Given the description of an element on the screen output the (x, y) to click on. 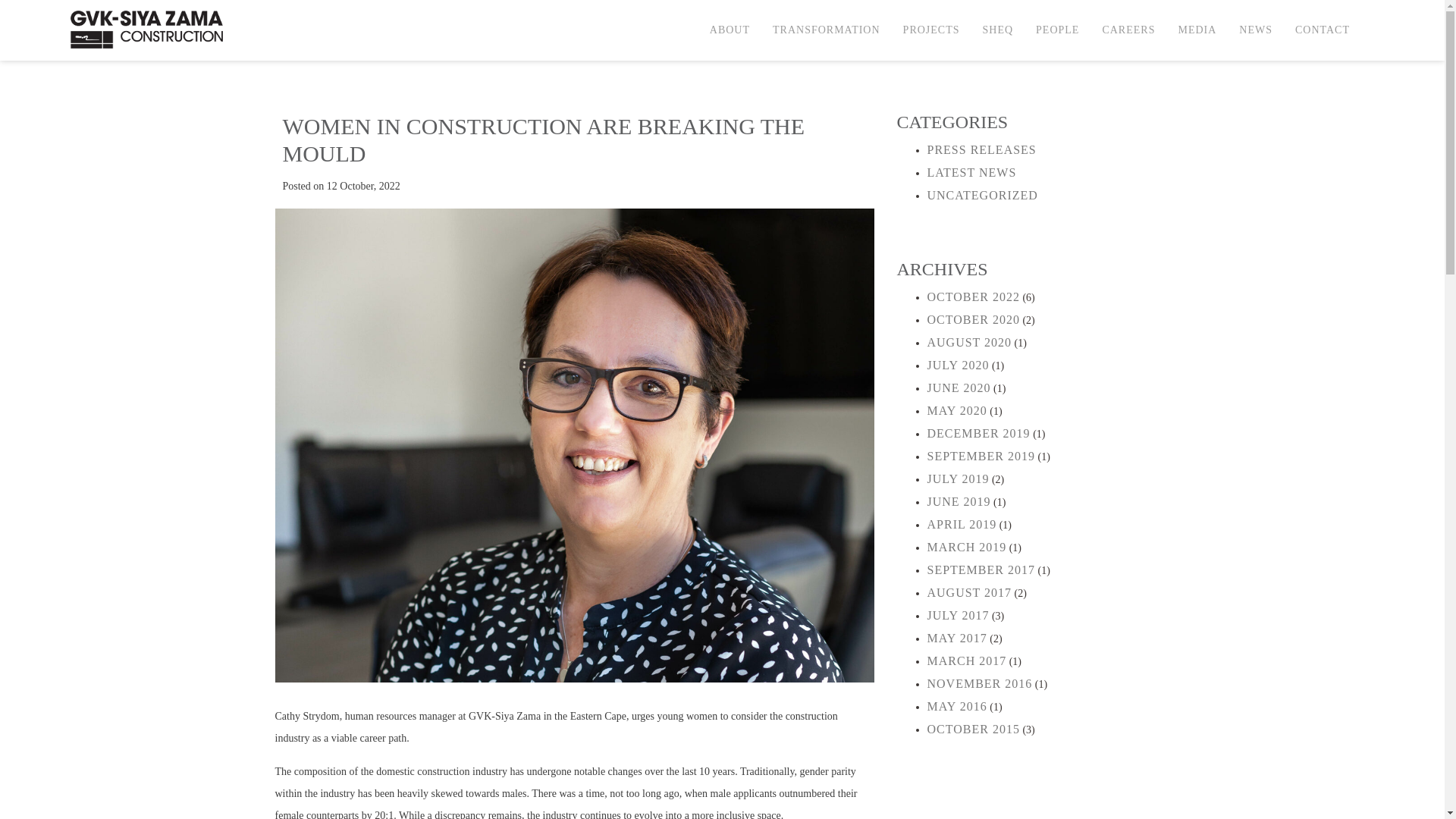
TRANSFORMATION (826, 30)
CONTACT (1322, 30)
PEOPLE (1057, 30)
UNCATEGORIZED (388, 33)
MEDIA (1196, 30)
NEWS (1255, 30)
HOME (306, 33)
SHEQ (998, 30)
PROJECTS (931, 30)
CAREERS (1128, 30)
ABOUT (729, 30)
